Given the description of an element on the screen output the (x, y) to click on. 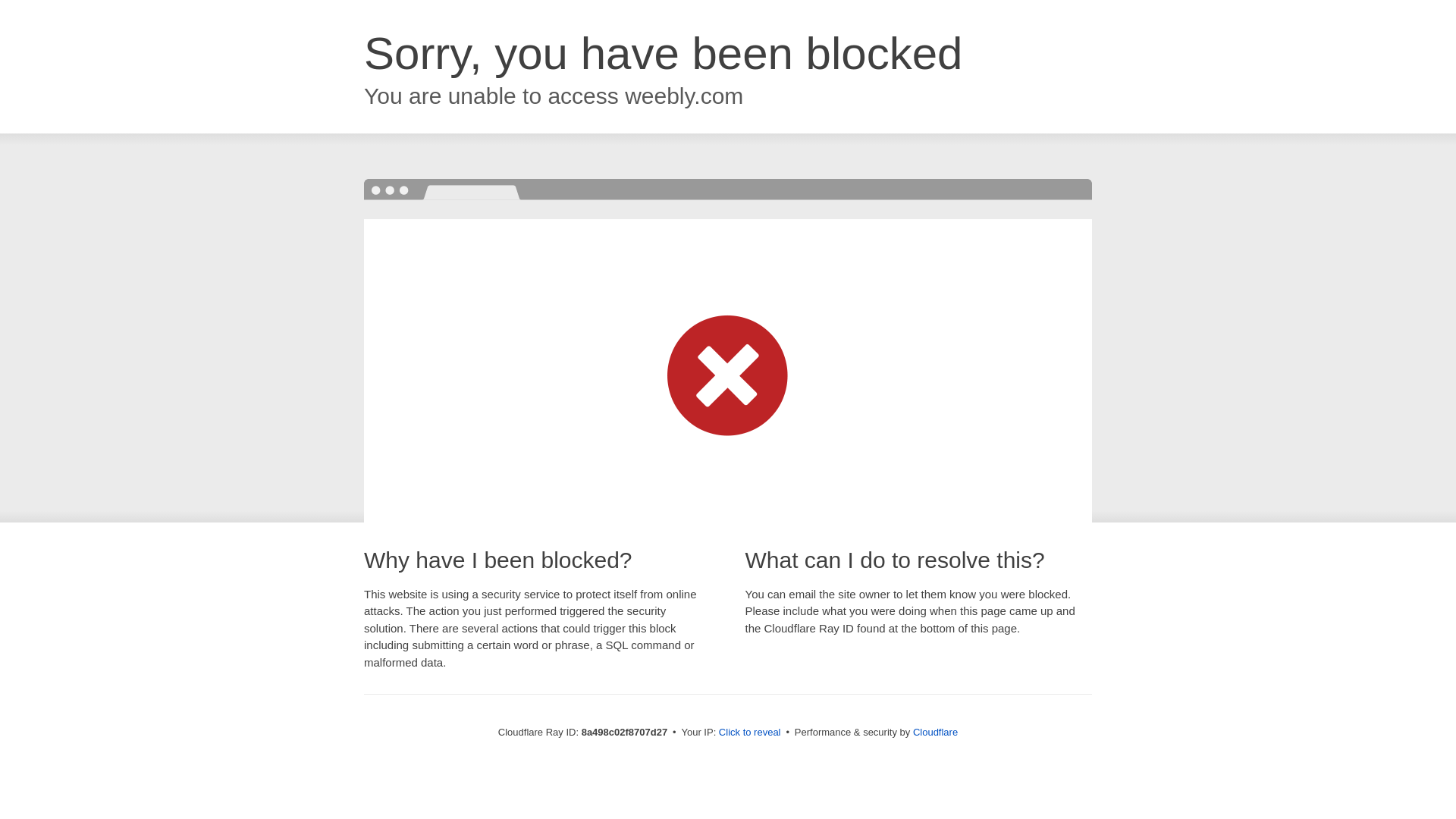
Cloudflare (935, 731)
Click to reveal (749, 732)
